Given the description of an element on the screen output the (x, y) to click on. 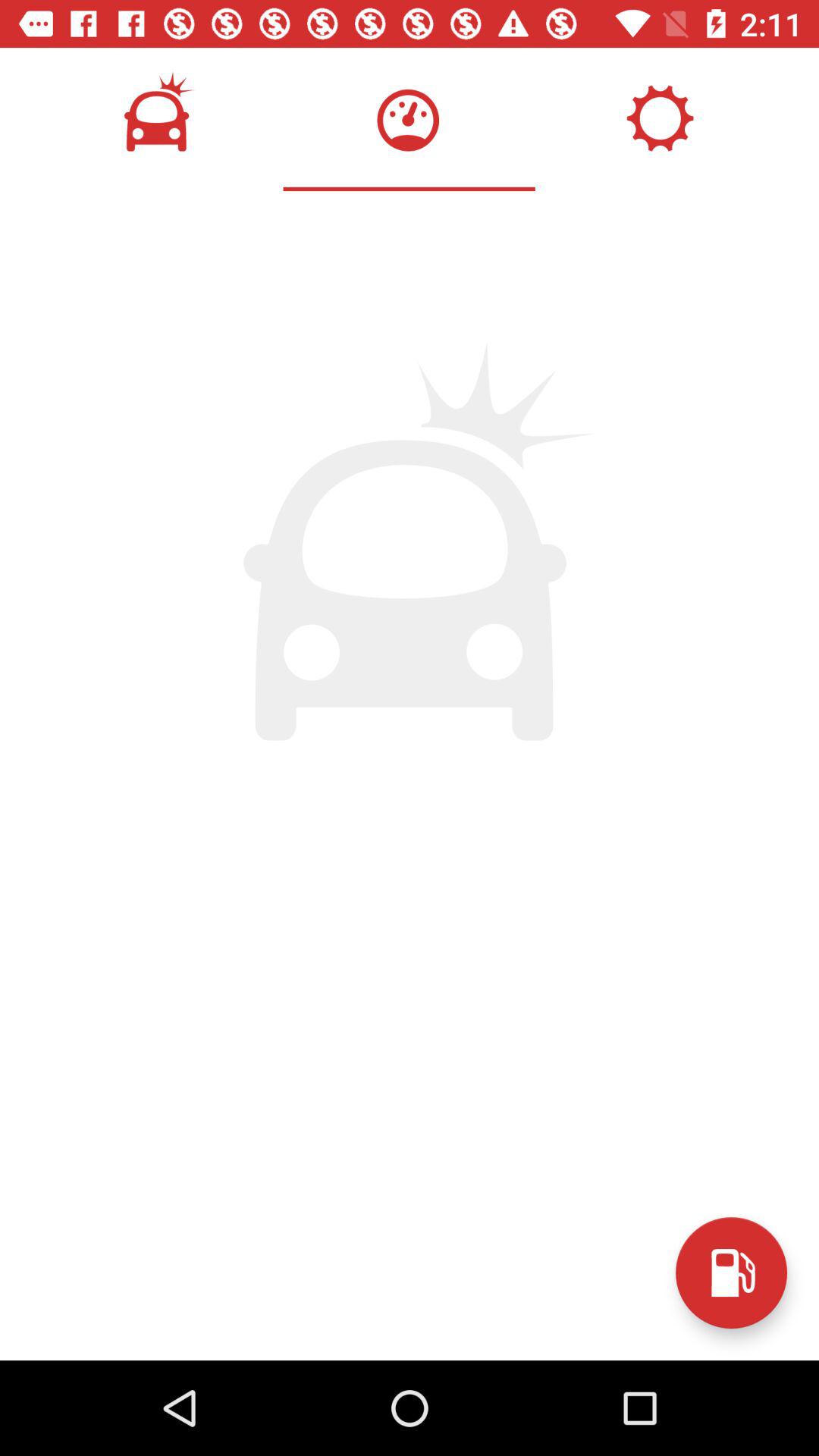
pump gas option (731, 1272)
